Given the description of an element on the screen output the (x, y) to click on. 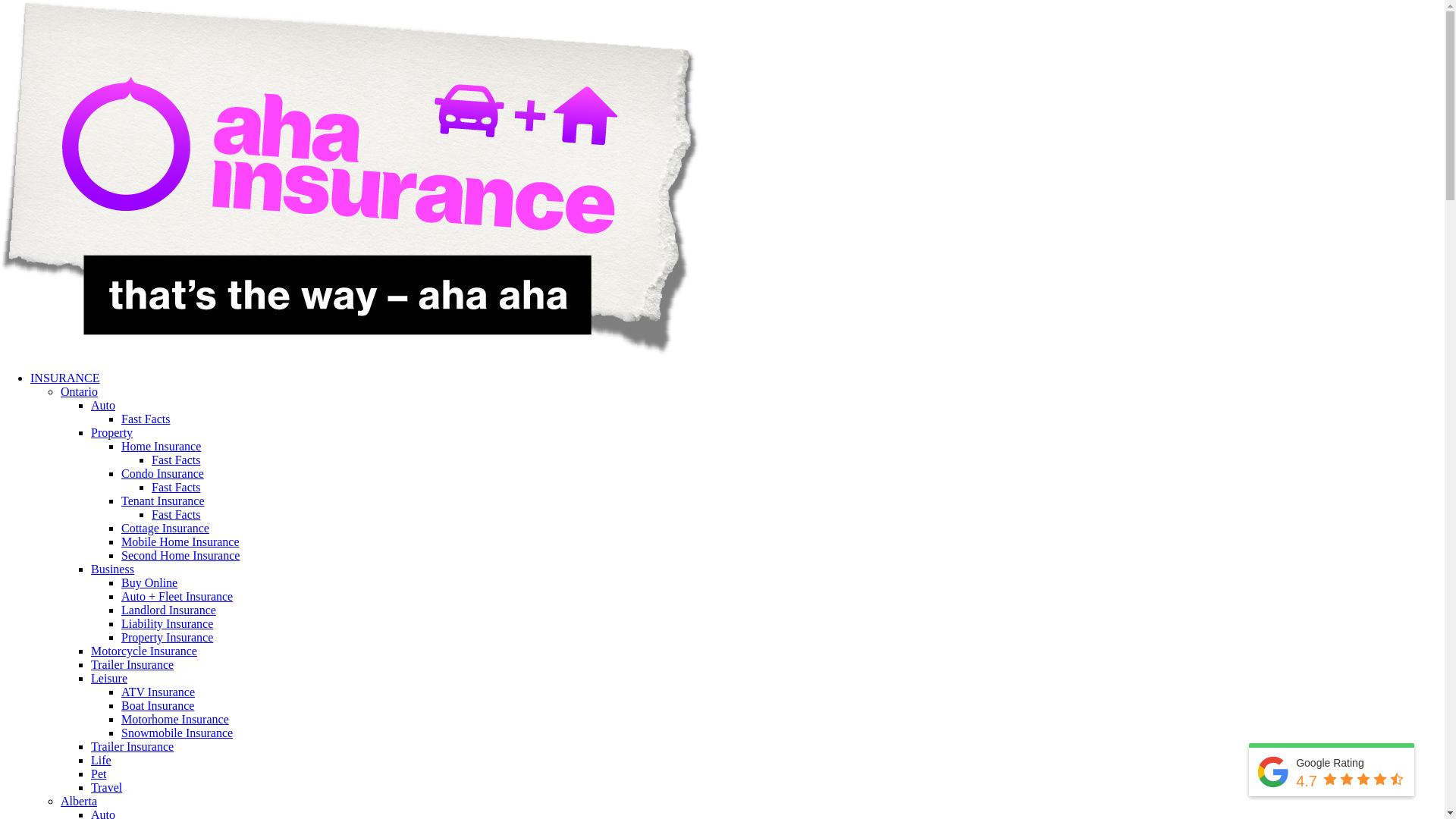
Auto Element type: text (103, 404)
Pet Element type: text (98, 773)
Life Element type: text (101, 759)
INSURANCE Element type: text (65, 377)
Condo Insurance Element type: text (162, 473)
Fast Facts Element type: text (175, 459)
Snowmobile Insurance Element type: text (176, 732)
ATV Insurance Element type: text (157, 691)
Travel Element type: text (106, 787)
Cottage Insurance Element type: text (165, 527)
Property Element type: text (111, 432)
Second Home Insurance Element type: text (180, 555)
Buy Online Element type: text (149, 582)
Motorcycle Insurance Element type: text (144, 650)
Ontario Element type: text (78, 391)
Mobile Home Insurance Element type: text (180, 541)
Motorhome Insurance Element type: text (175, 718)
Landlord Insurance Element type: text (168, 609)
Business Element type: text (112, 568)
Fast Facts Element type: text (175, 486)
Trailer Insurance Element type: text (132, 664)
Boat Insurance Element type: text (157, 705)
Trailer Insurance Element type: text (132, 746)
Leisure Element type: text (109, 677)
Fast Facts Element type: text (145, 418)
Auto + Fleet Insurance Element type: text (176, 595)
Fast Facts Element type: text (175, 514)
Alberta Element type: text (78, 800)
Home Insurance Element type: text (160, 445)
Liability Insurance Element type: text (167, 623)
Tenant Insurance Element type: text (162, 500)
Property Insurance Element type: text (167, 636)
